Given the description of an element on the screen output the (x, y) to click on. 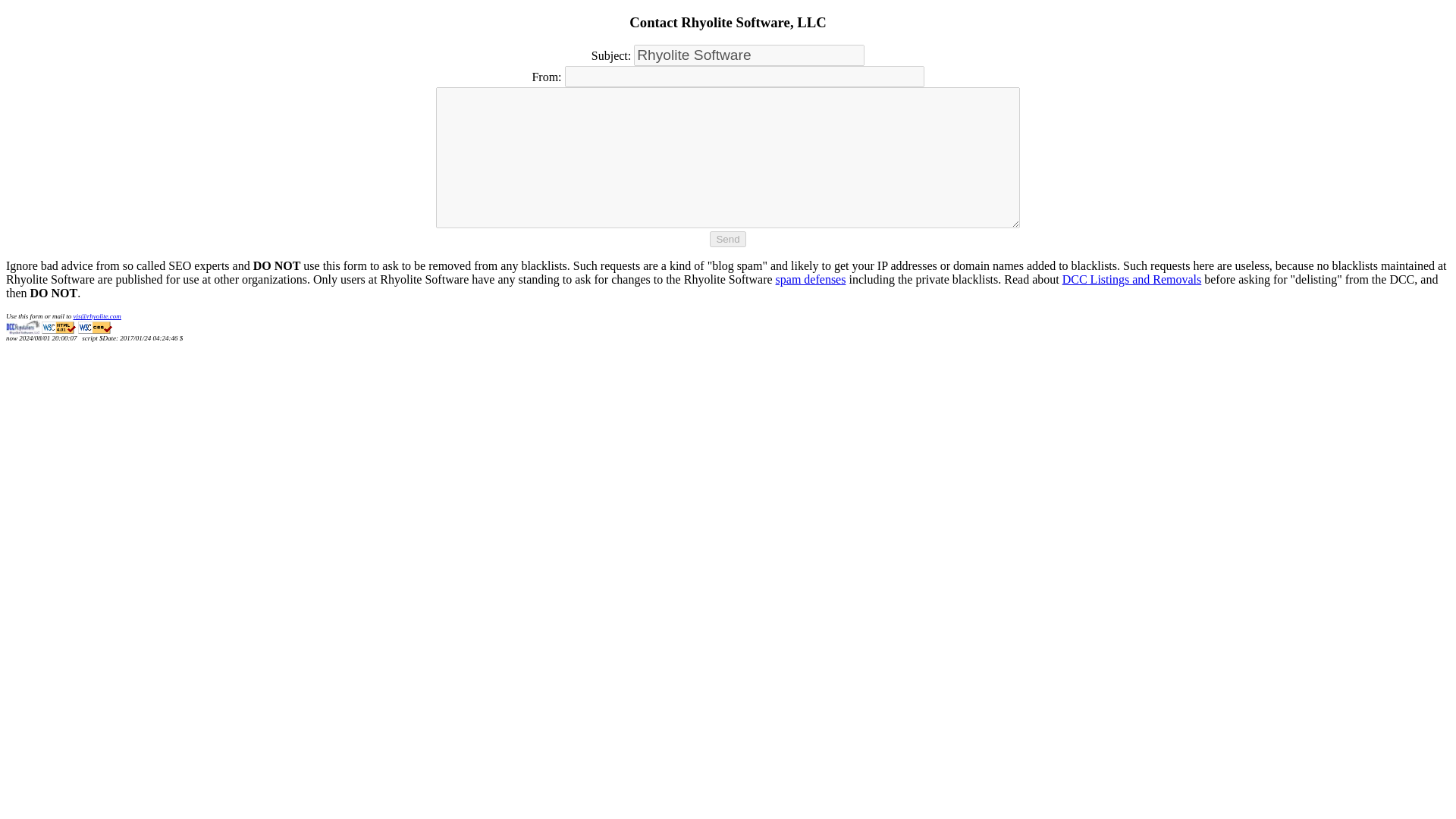
Rhyolite Software (748, 55)
Send (727, 238)
spam defenses (810, 278)
DCC Listings and Removals (1132, 278)
Send (727, 238)
